Given the description of an element on the screen output the (x, y) to click on. 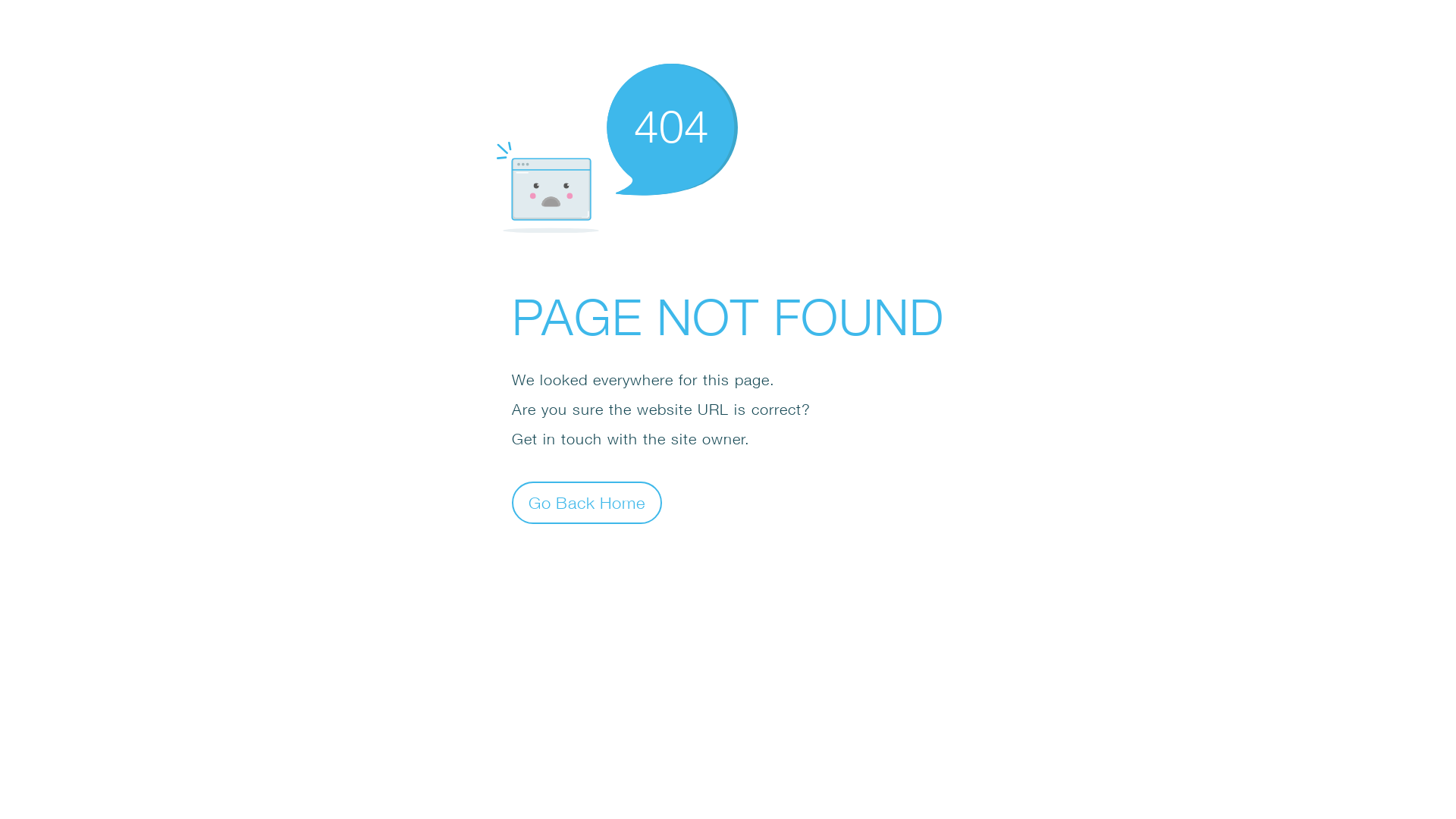
Go Back Home Element type: text (586, 502)
